Given the description of an element on the screen output the (x, y) to click on. 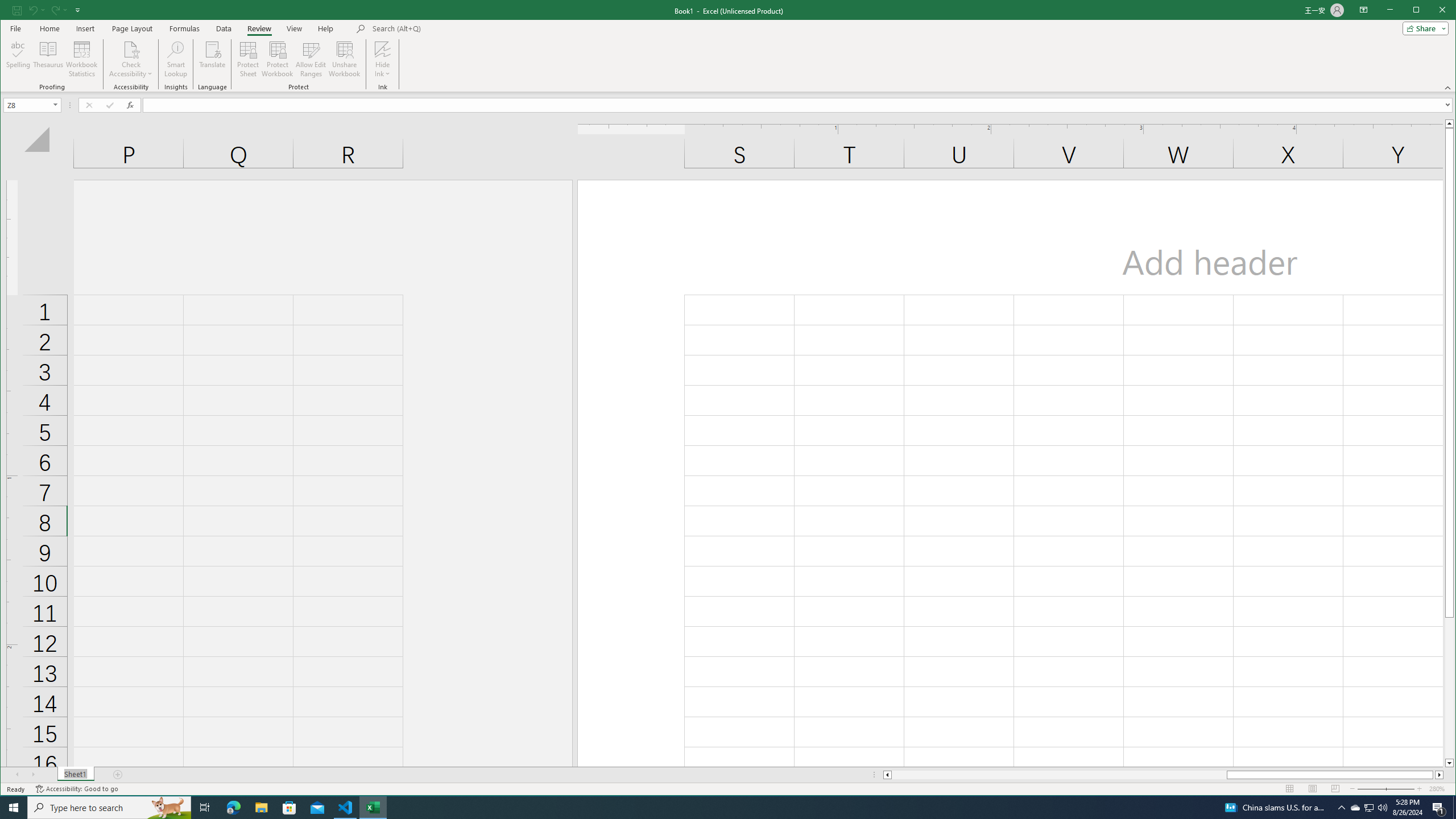
Microsoft Edge (233, 807)
Spelling... (18, 59)
Protect Workbook... (277, 59)
Protect Sheet... (1368, 807)
